Given the description of an element on the screen output the (x, y) to click on. 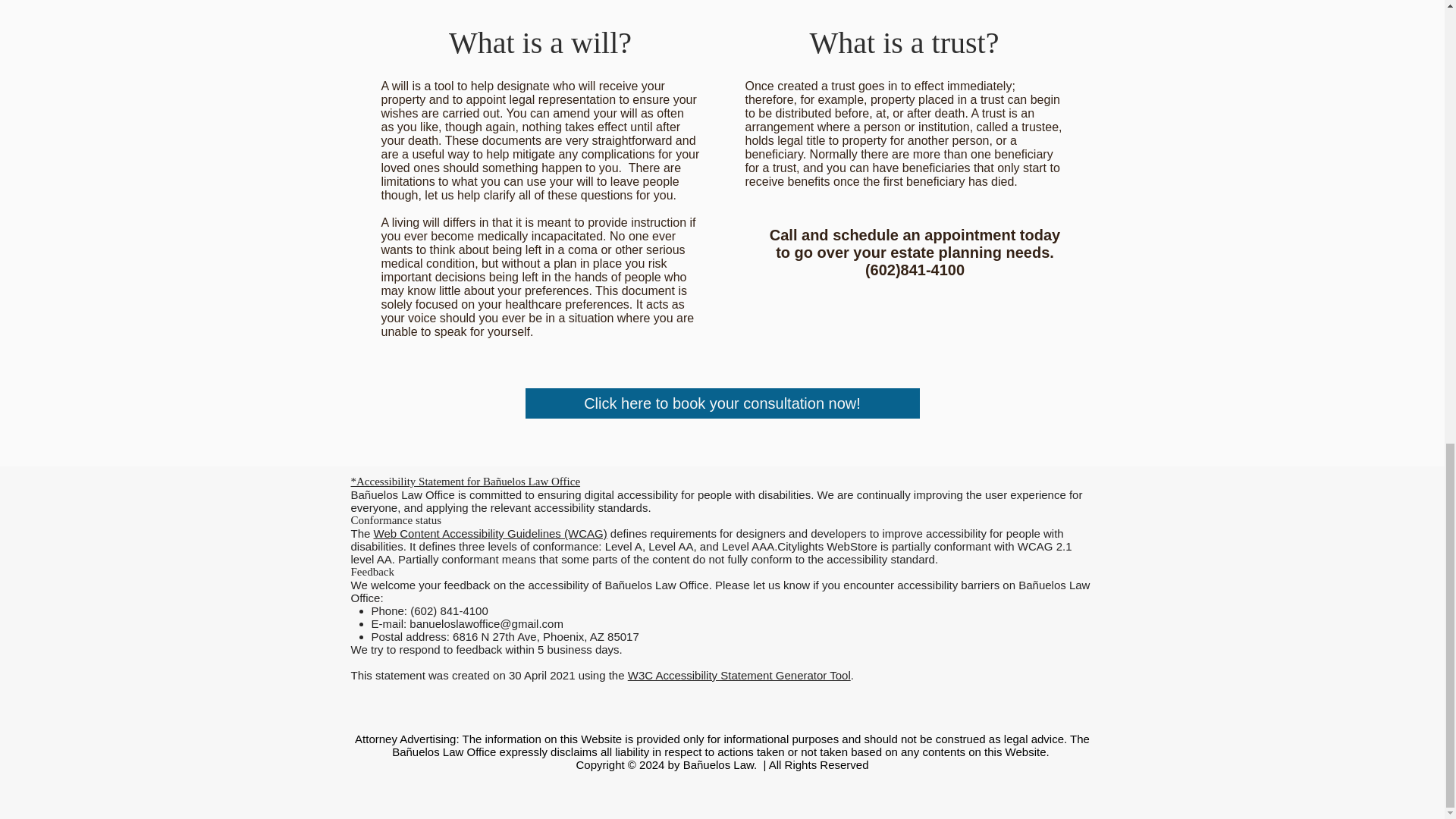
W3C Accessibility Statement Generator Tool (738, 675)
